Given the description of an element on the screen output the (x, y) to click on. 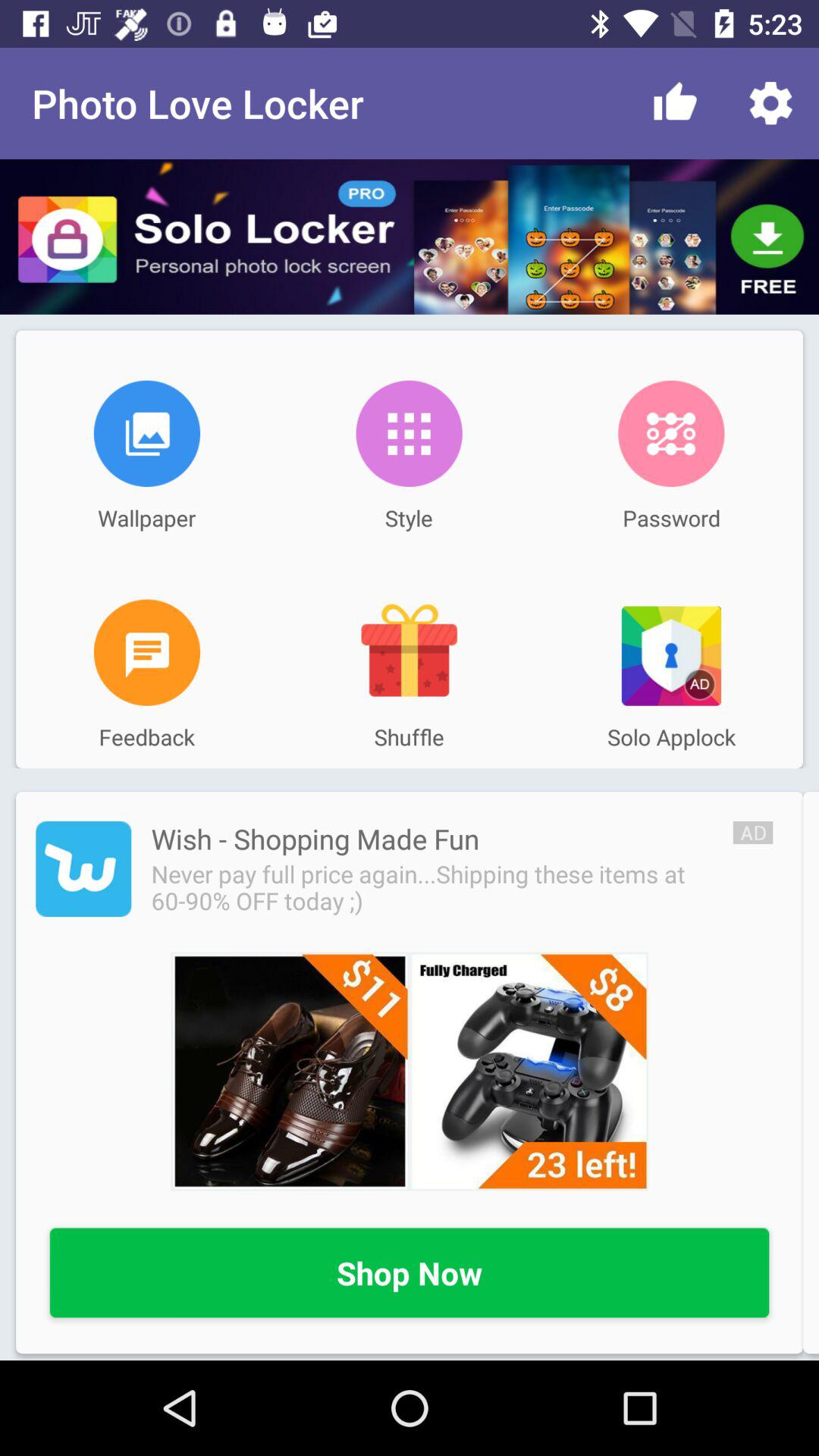
click the item above wallpaper (146, 433)
